Given the description of an element on the screen output the (x, y) to click on. 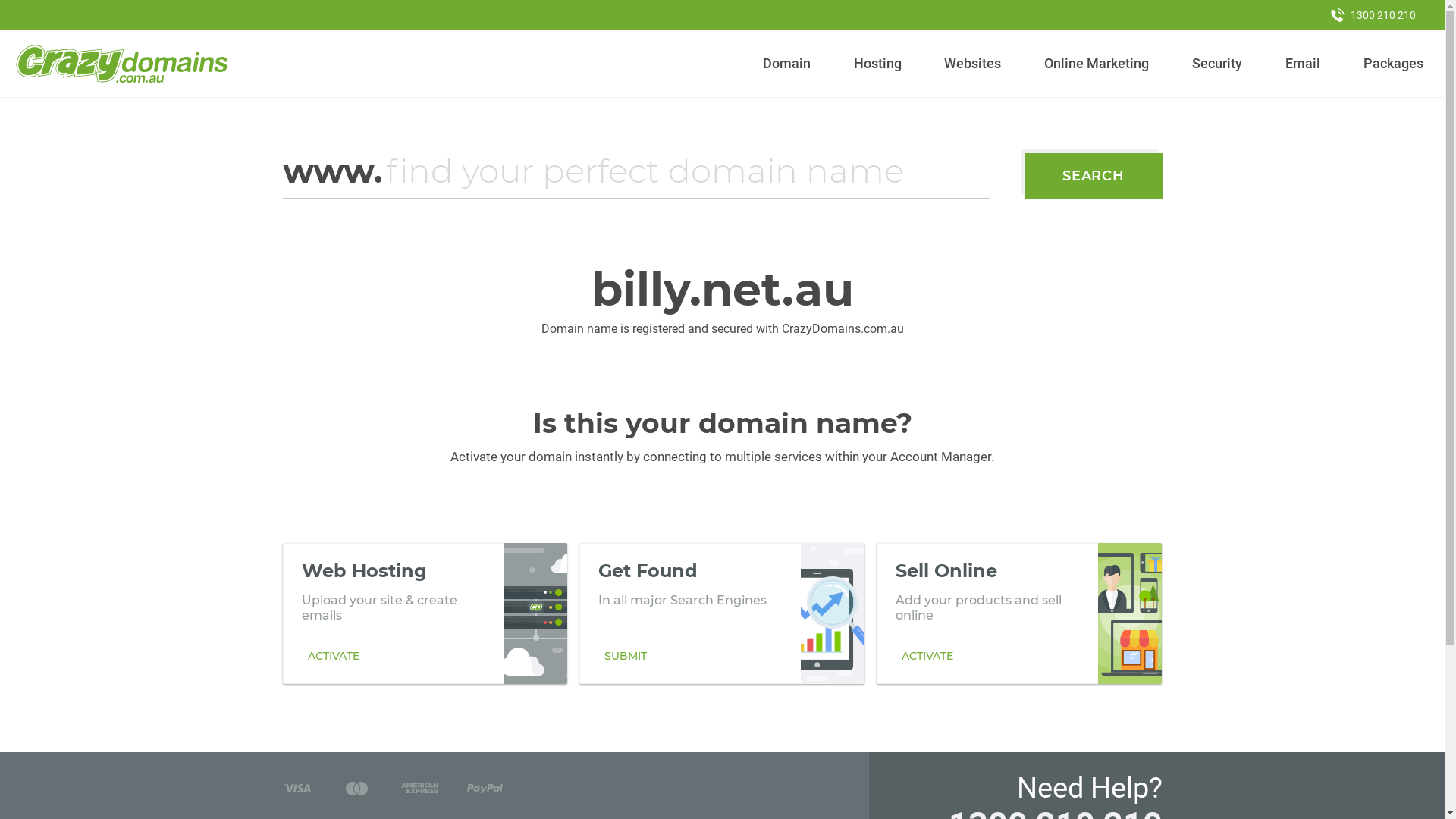
1300 210 210 Element type: text (1373, 15)
Security Element type: text (1217, 63)
Websites Element type: text (972, 63)
Online Marketing Element type: text (1096, 63)
Get Found
In all major Search Engines
SUBMIT Element type: text (721, 613)
Packages Element type: text (1392, 63)
Web Hosting
Upload your site & create emails
ACTIVATE Element type: text (424, 613)
Email Element type: text (1302, 63)
Hosting Element type: text (877, 63)
Sell Online
Add your products and sell online
ACTIVATE Element type: text (1018, 613)
SEARCH Element type: text (1092, 175)
Domain Element type: text (786, 63)
